Given the description of an element on the screen output the (x, y) to click on. 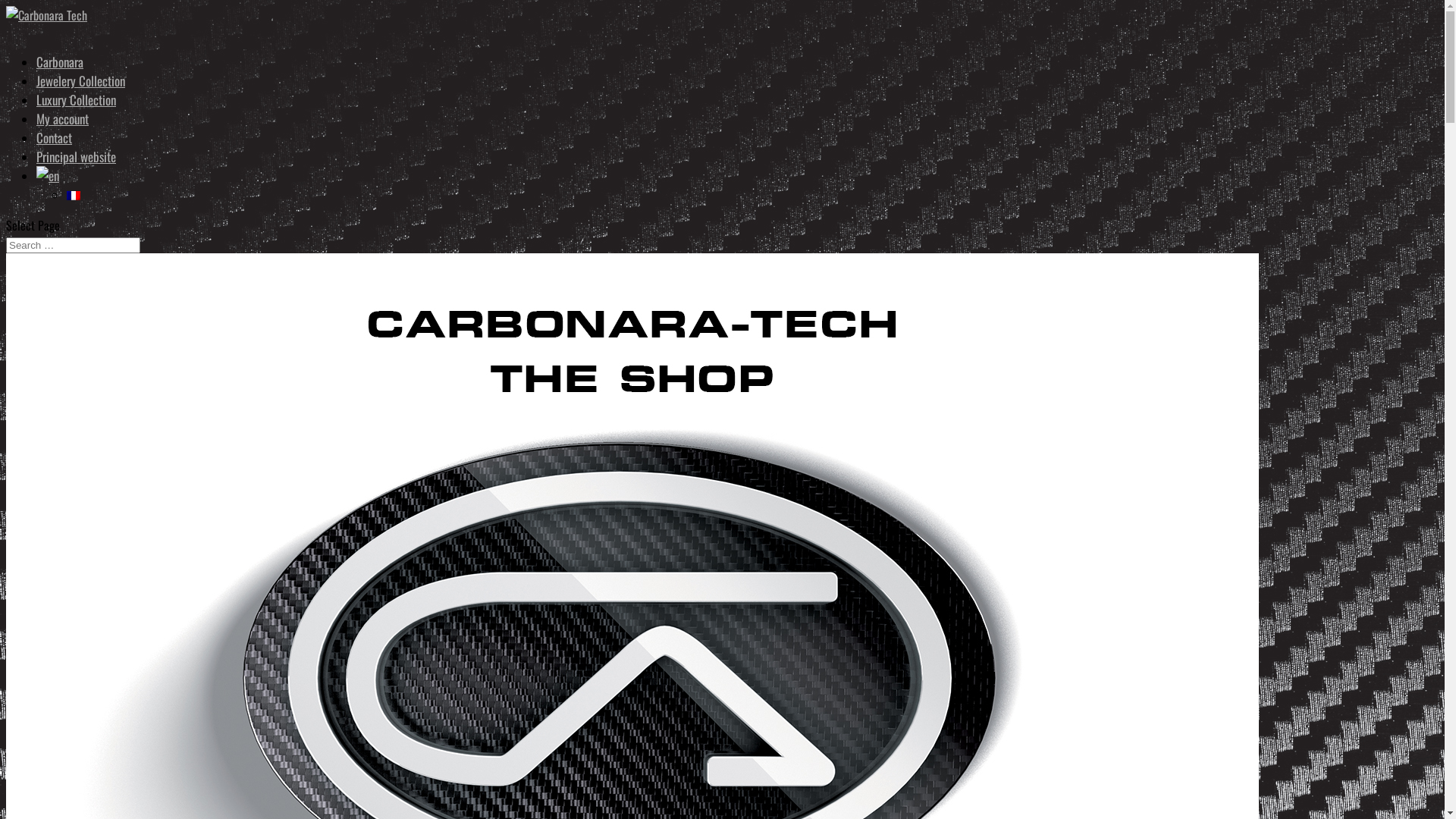
Principal website Element type: text (76, 164)
Contact Element type: text (54, 145)
Search for: Element type: hover (73, 245)
Carbonara Element type: text (59, 69)
English Element type: hover (47, 175)
My account Element type: text (62, 126)
Jewelery Collection Element type: text (80, 88)
Luxury Collection Element type: text (76, 107)
